Given the description of an element on the screen output the (x, y) to click on. 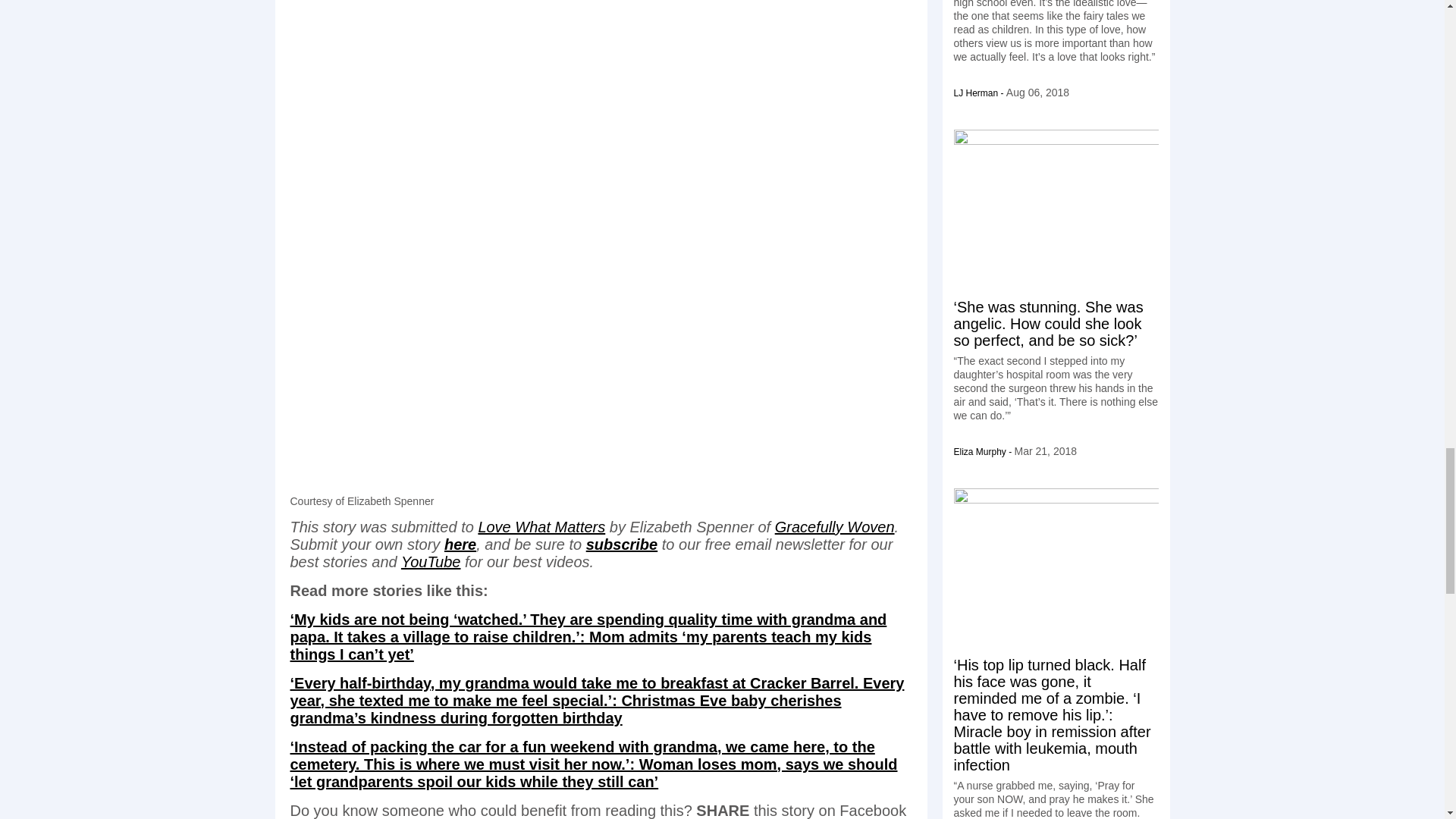
March 21, 2018 (1045, 450)
August 6, 2018 (1037, 92)
